Given the description of an element on the screen output the (x, y) to click on. 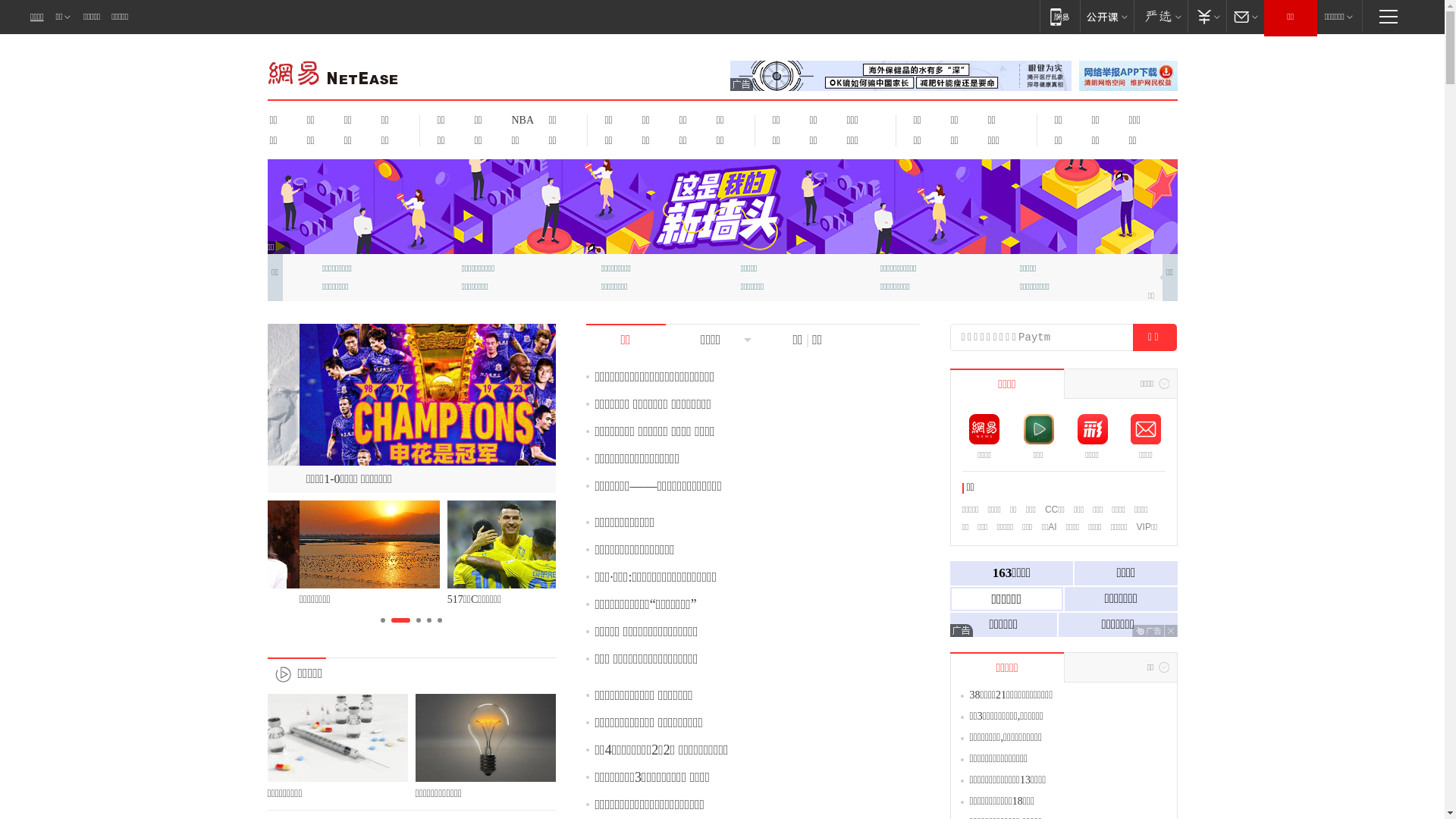
NBA Element type: text (520, 119)
